Given the description of an element on the screen output the (x, y) to click on. 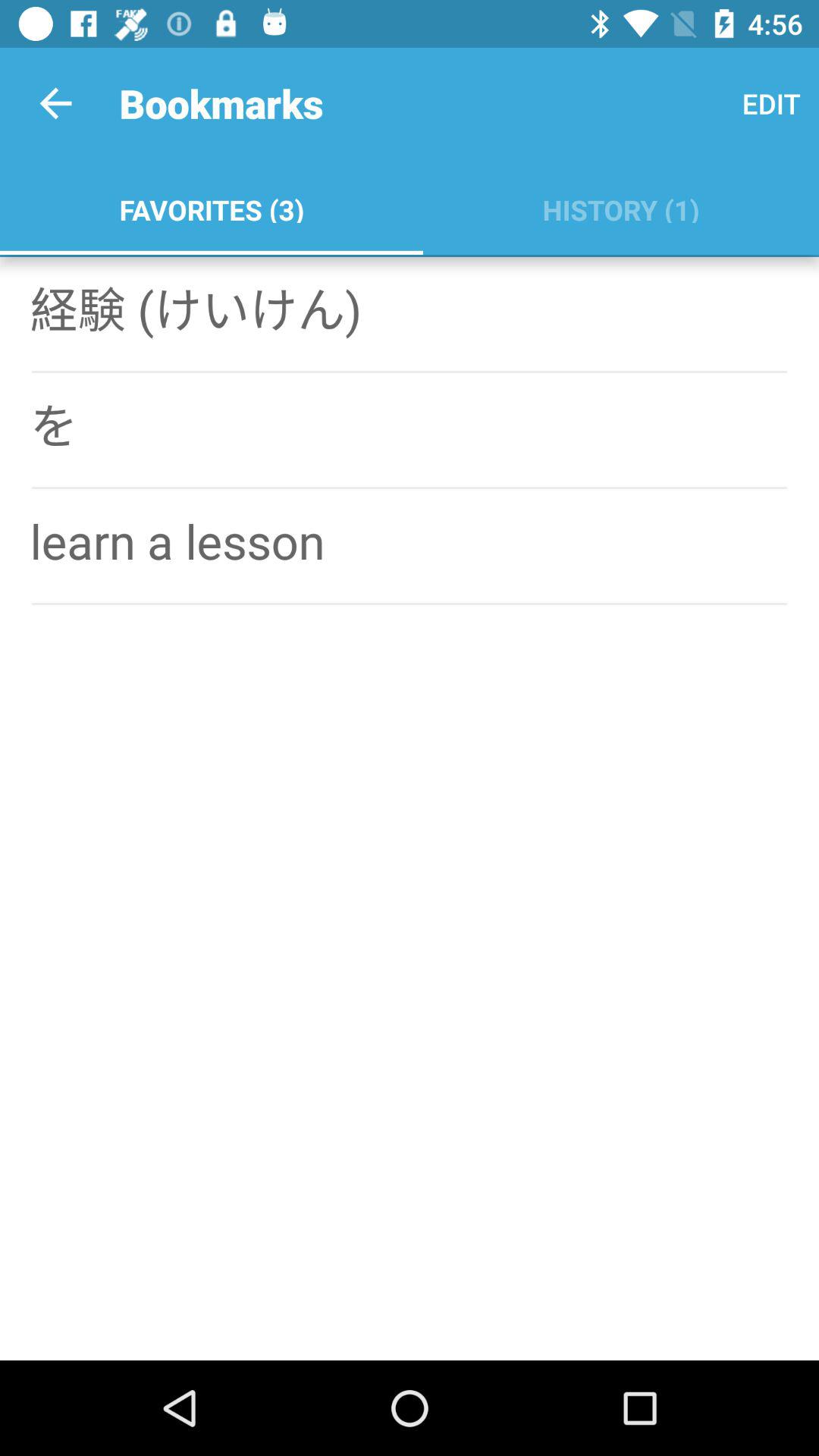
click history (1) app (621, 206)
